Given the description of an element on the screen output the (x, y) to click on. 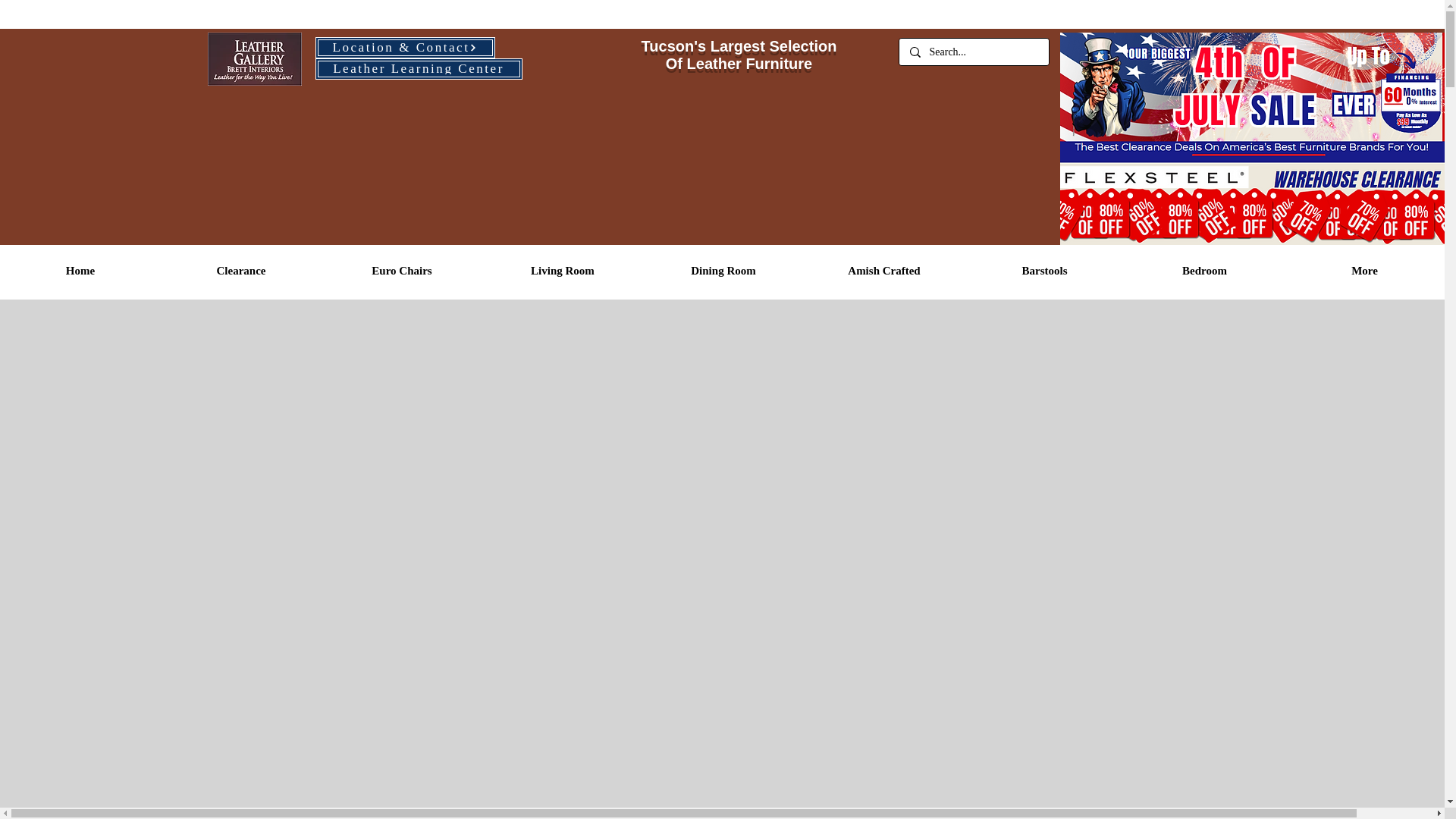
Clearance (240, 270)
Barstools (1043, 270)
Amish Crafted (883, 270)
Leather Learning Center (418, 68)
Euro Chairs (401, 270)
Home (80, 270)
Dining Room (723, 270)
Bedroom (1204, 270)
